Given the description of an element on the screen output the (x, y) to click on. 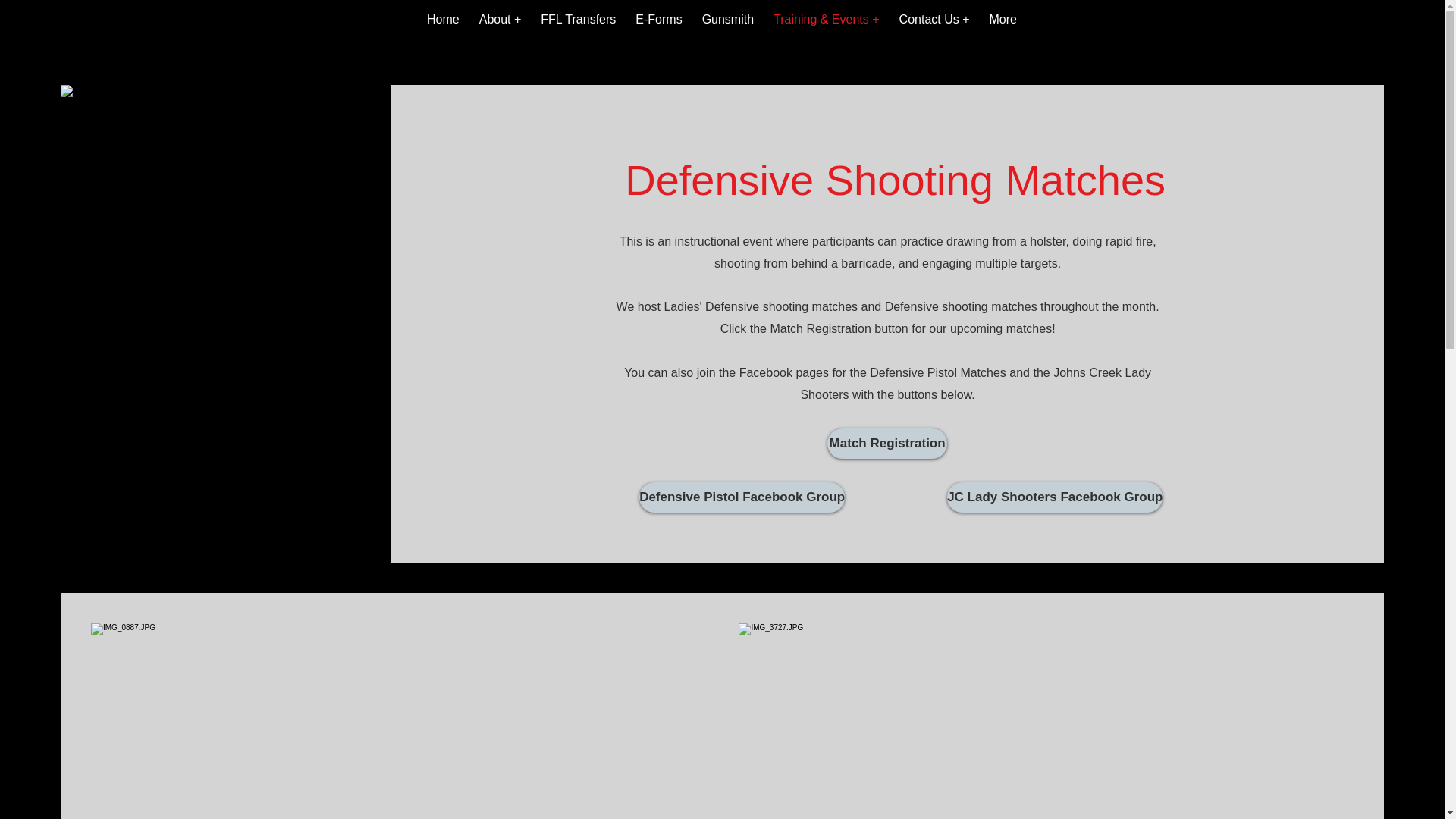
FFL Transfers (578, 27)
JC Lady Shooters Facebook Group (1054, 497)
Match Registration (887, 443)
E-Forms (658, 27)
Home (442, 27)
Defensive Pistol Facebook Group (741, 497)
Gunsmith (727, 27)
